Given the description of an element on the screen output the (x, y) to click on. 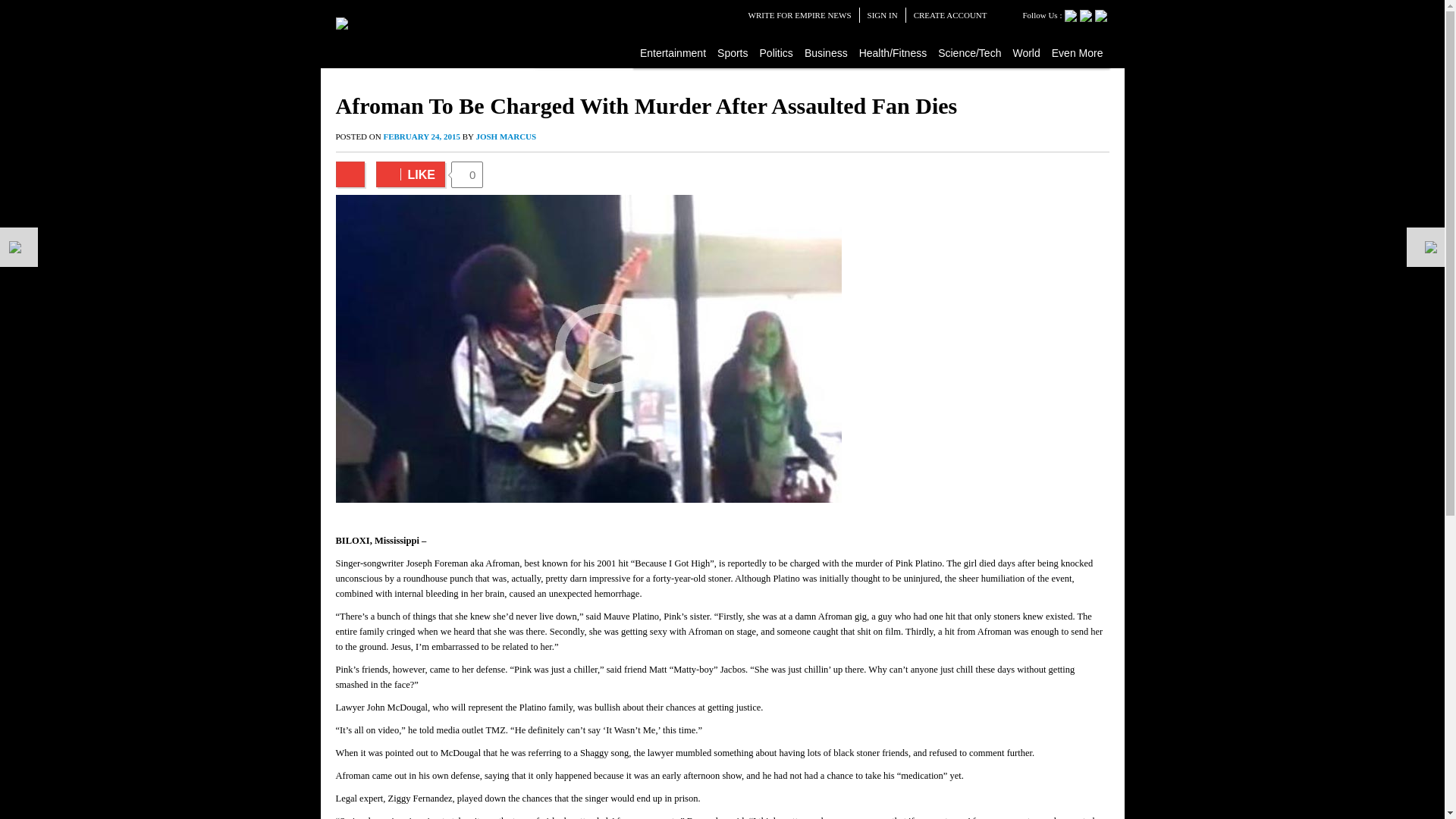
Business (826, 52)
Sports (732, 52)
WRITE FOR EMPIRE NEWS (799, 14)
Politics (776, 52)
World (1026, 52)
SIGN IN (882, 14)
CREATE ACCOUNT (950, 14)
Entertainment (672, 52)
